Given the description of an element on the screen output the (x, y) to click on. 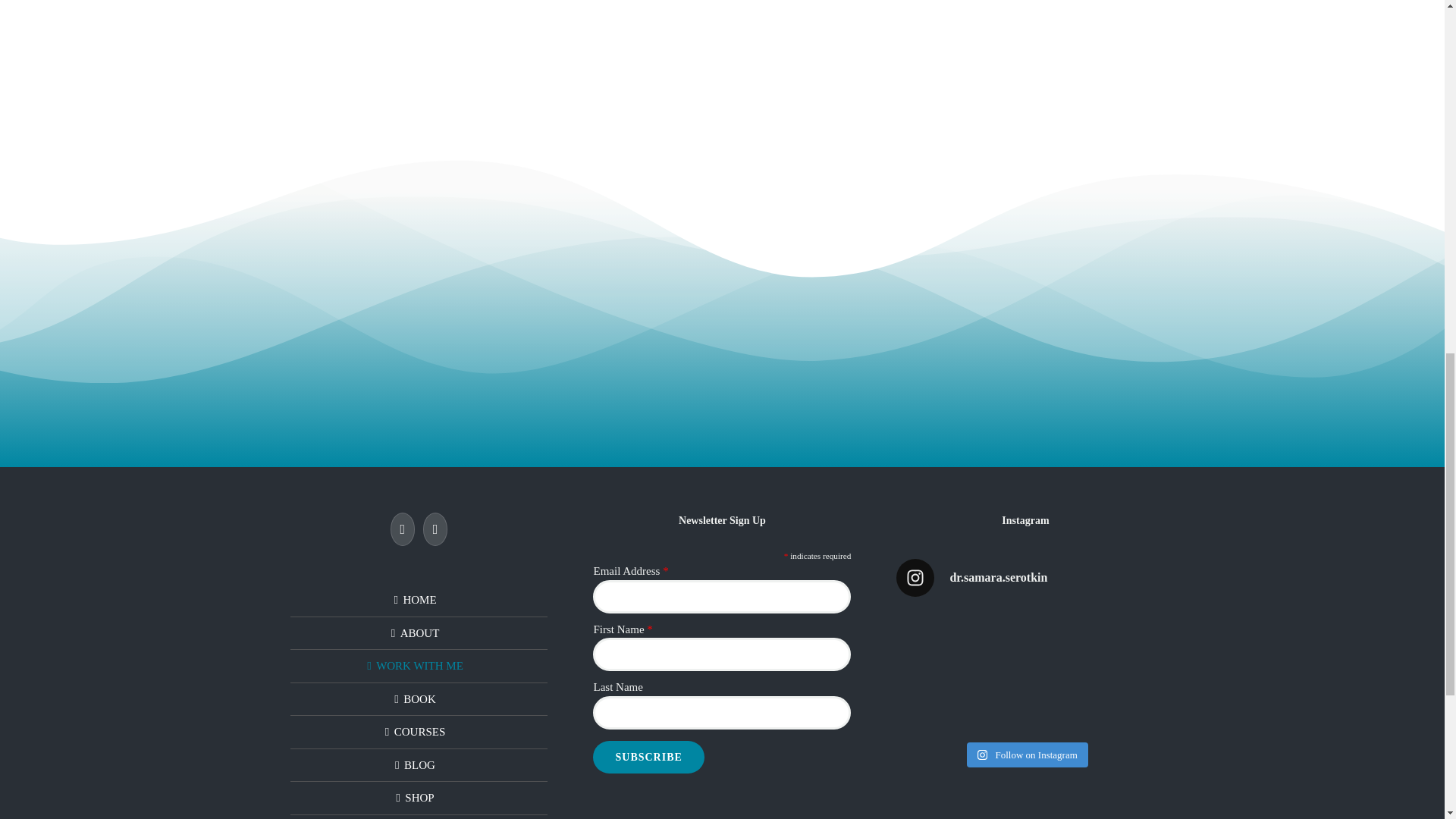
BOOK (419, 699)
Subscribe (647, 757)
SHOP (419, 797)
Facebook (402, 529)
BLOG (419, 764)
Subscribe (647, 757)
ABOUT (419, 633)
WORK WITH ME (419, 665)
dr.samara.serotkin (1025, 577)
Instagram (435, 529)
HOME (419, 600)
COURSES (419, 732)
